Given the description of an element on the screen output the (x, y) to click on. 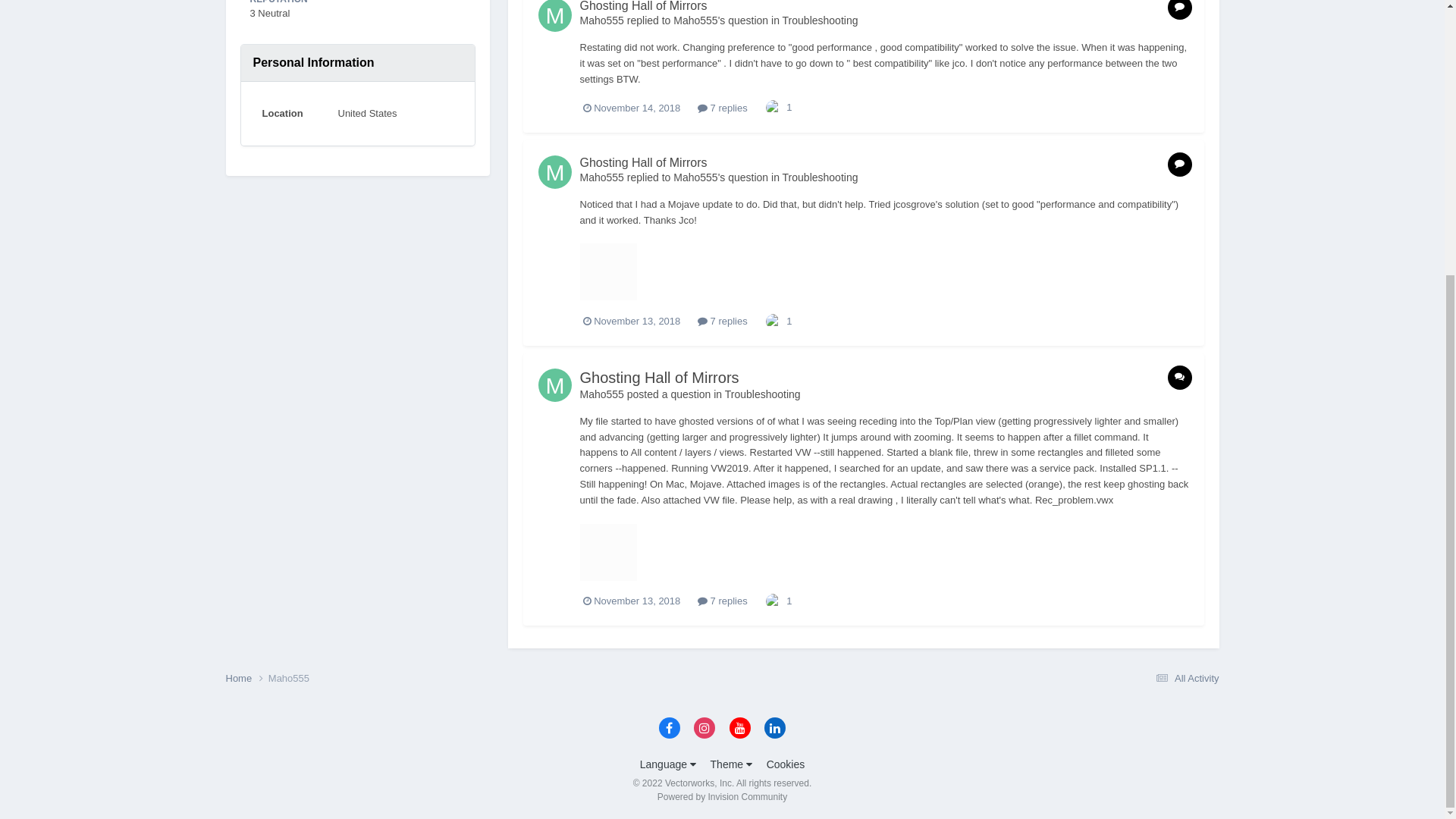
Go to Maho555's profile (601, 20)
Like (773, 107)
Go to Maho555's profile (694, 177)
Go to Maho555's profile (555, 172)
Like (773, 319)
Go to Maho555's profile (555, 15)
Go to Maho555's profile (694, 20)
Post (1179, 9)
Go to Maho555's profile (601, 177)
Post (1179, 164)
